Given the description of an element on the screen output the (x, y) to click on. 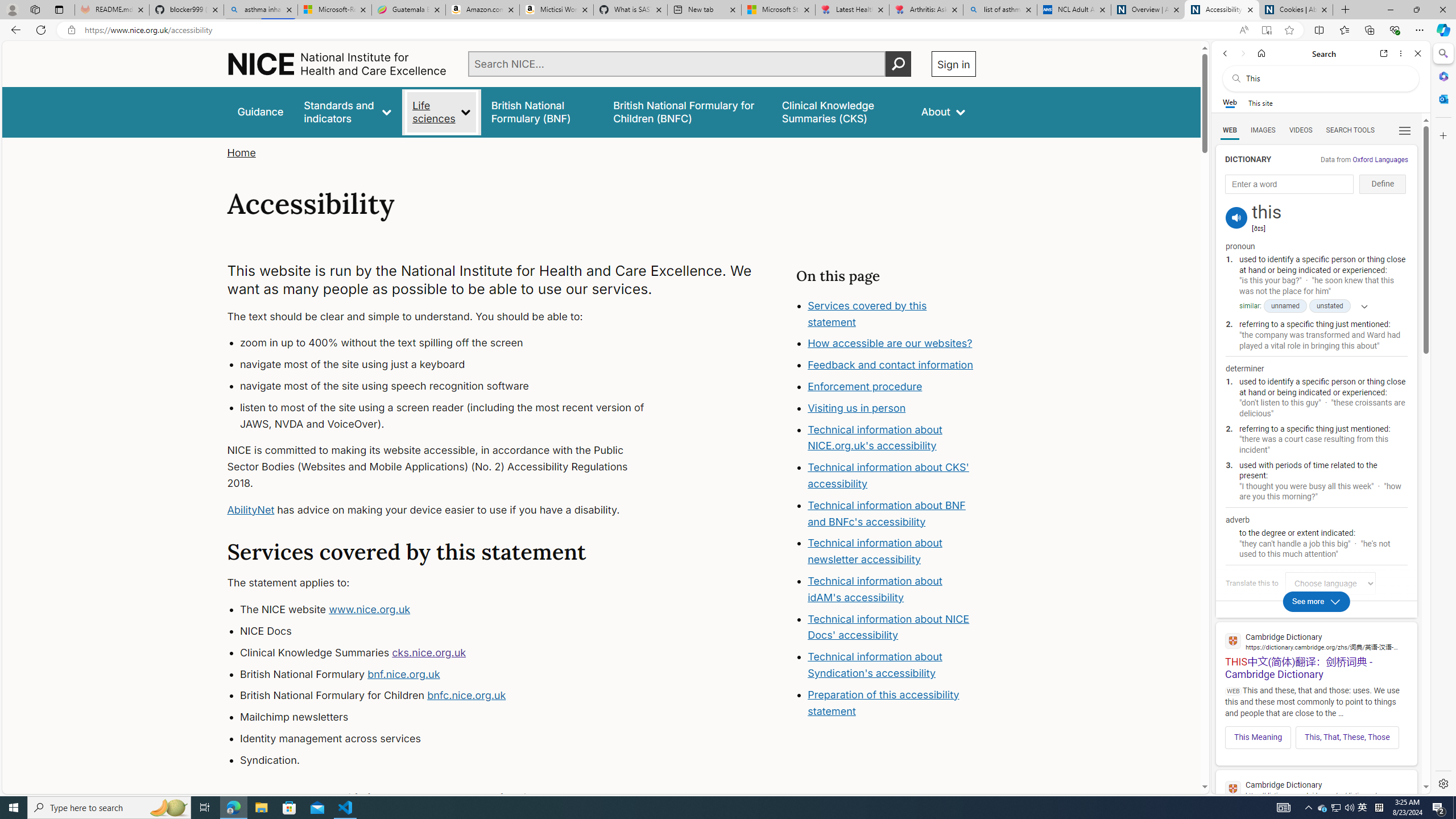
Enter a word (1289, 184)
AbilityNet (251, 509)
unstated (1329, 305)
Services covered by this statement (867, 313)
Enforcement procedure (891, 386)
Visiting us in person (891, 407)
